Given the description of an element on the screen output the (x, y) to click on. 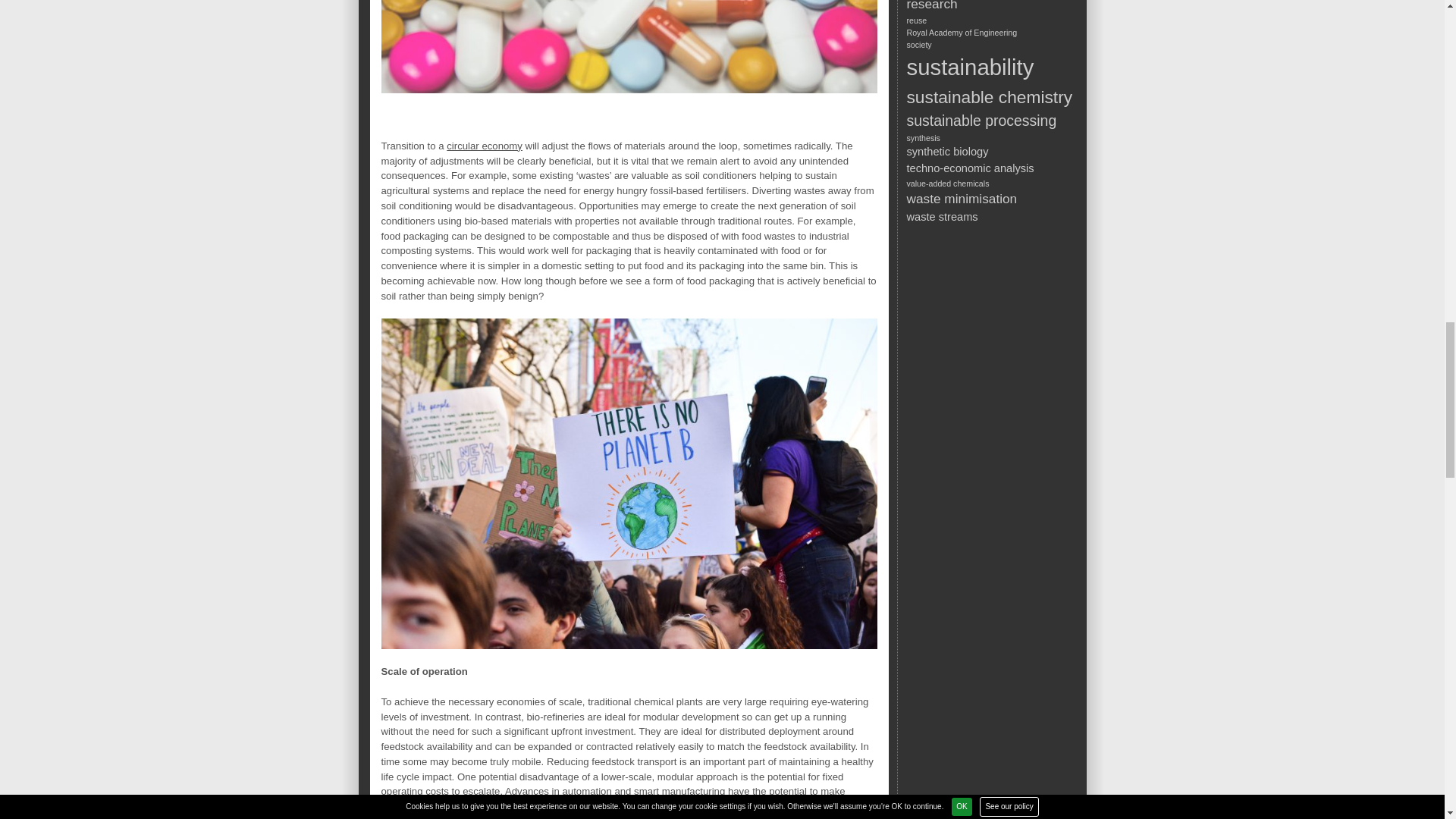
circular economy (484, 145)
